Given the description of an element on the screen output the (x, y) to click on. 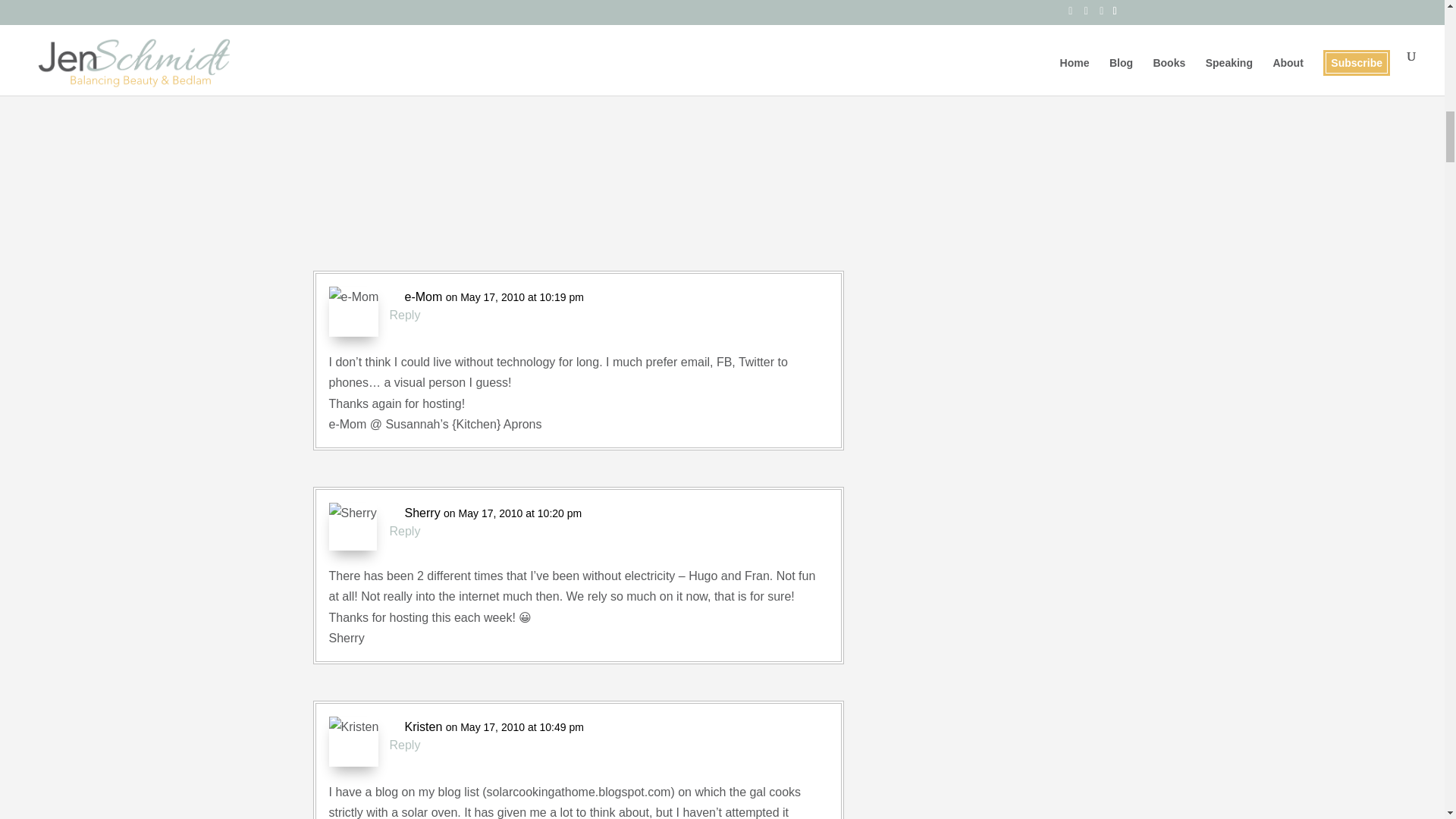
Reply (405, 744)
e-Mom (423, 296)
Reply (405, 314)
Reply (405, 530)
Sherry (422, 512)
Kristen (423, 726)
